Given the description of an element on the screen output the (x, y) to click on. 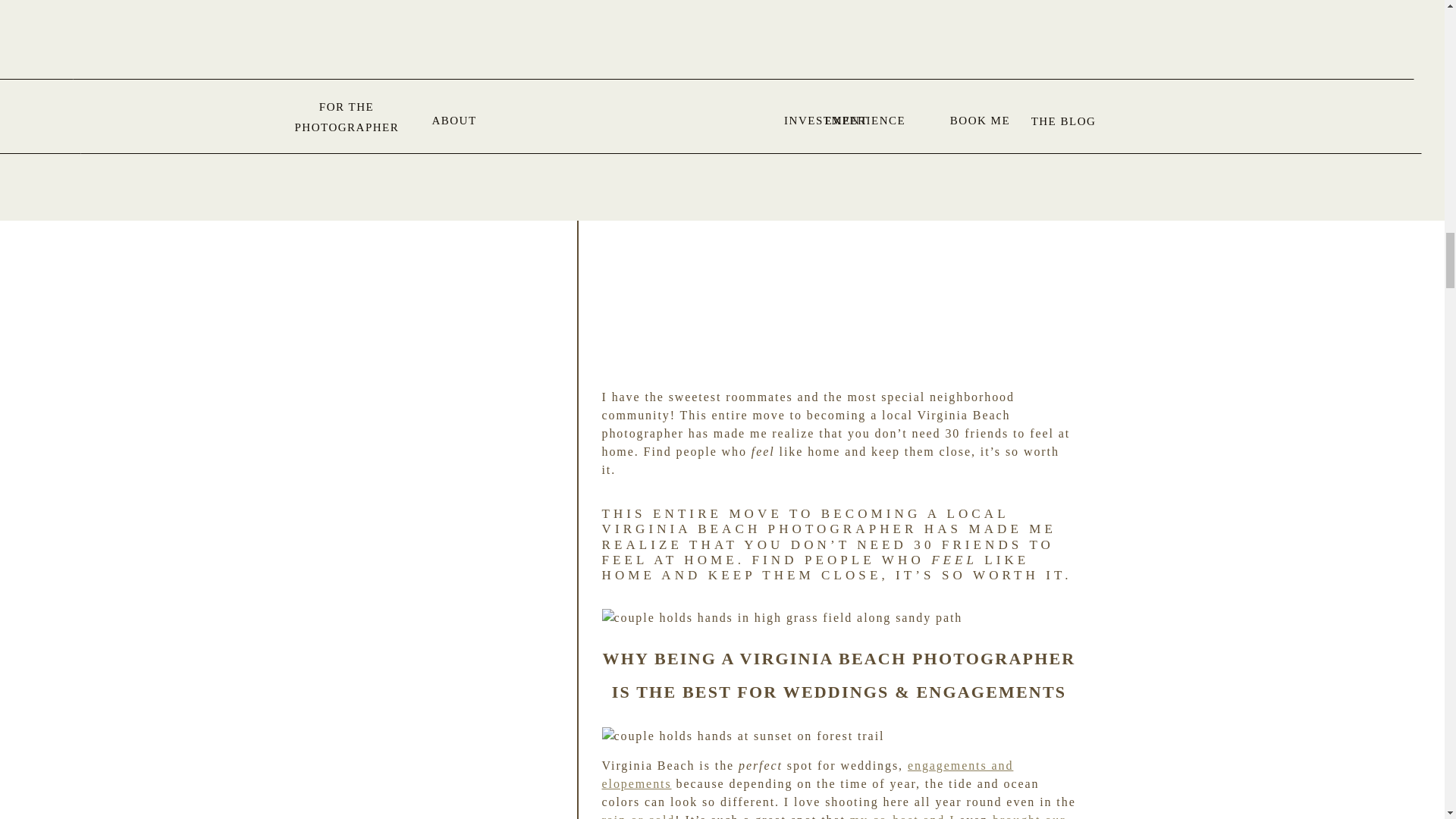
engagements and elopements (807, 774)
rain or cold (638, 816)
my co-host and I (902, 816)
